Given the description of an element on the screen output the (x, y) to click on. 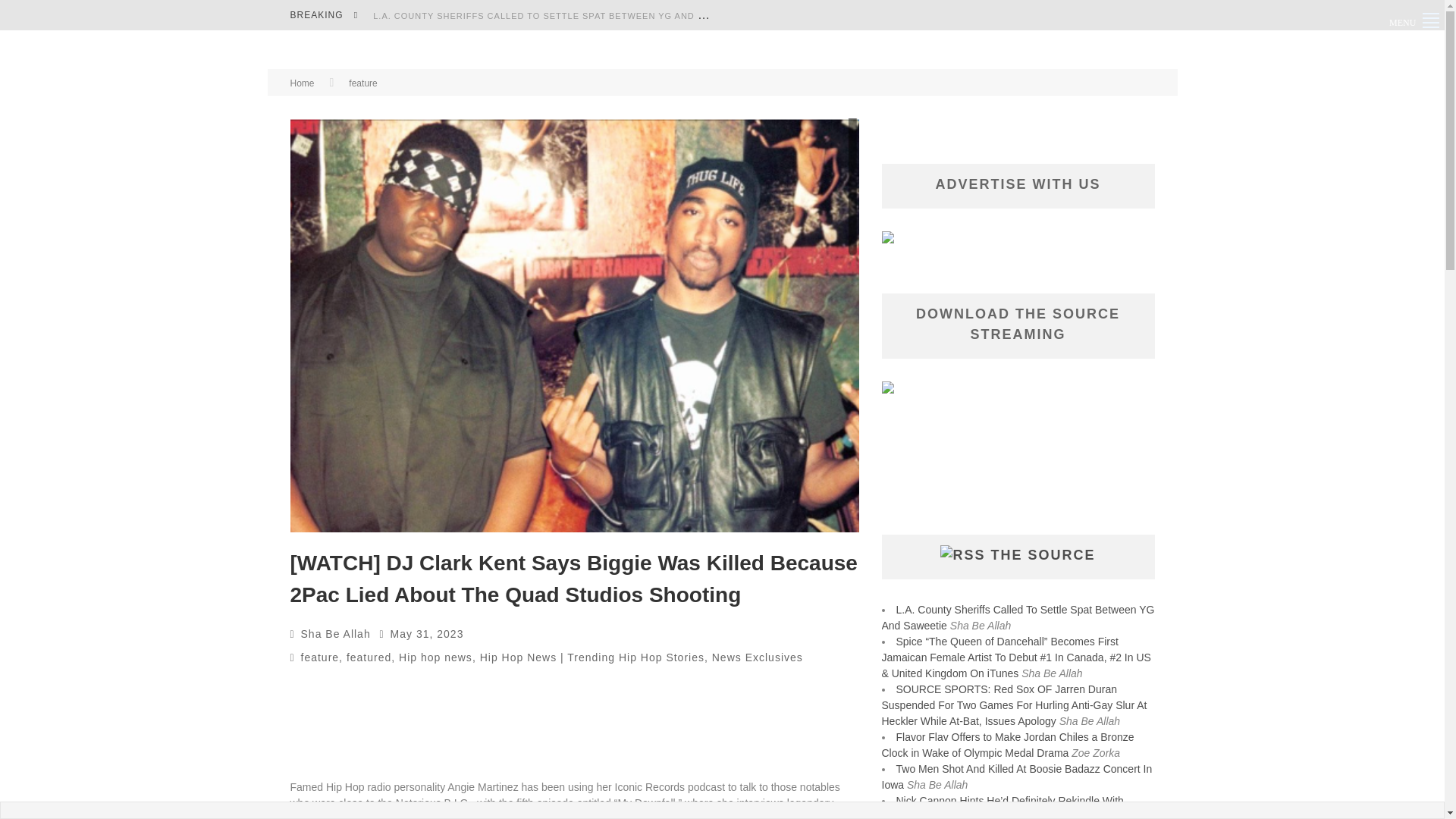
View all posts in News Exclusives (757, 657)
Hip hop news (434, 657)
View all posts in feature (363, 82)
Home (301, 82)
View all posts in featured (368, 657)
View all posts in feature (320, 657)
News Exclusives (757, 657)
Sha Be Allah (336, 633)
featured (368, 657)
